Given the description of an element on the screen output the (x, y) to click on. 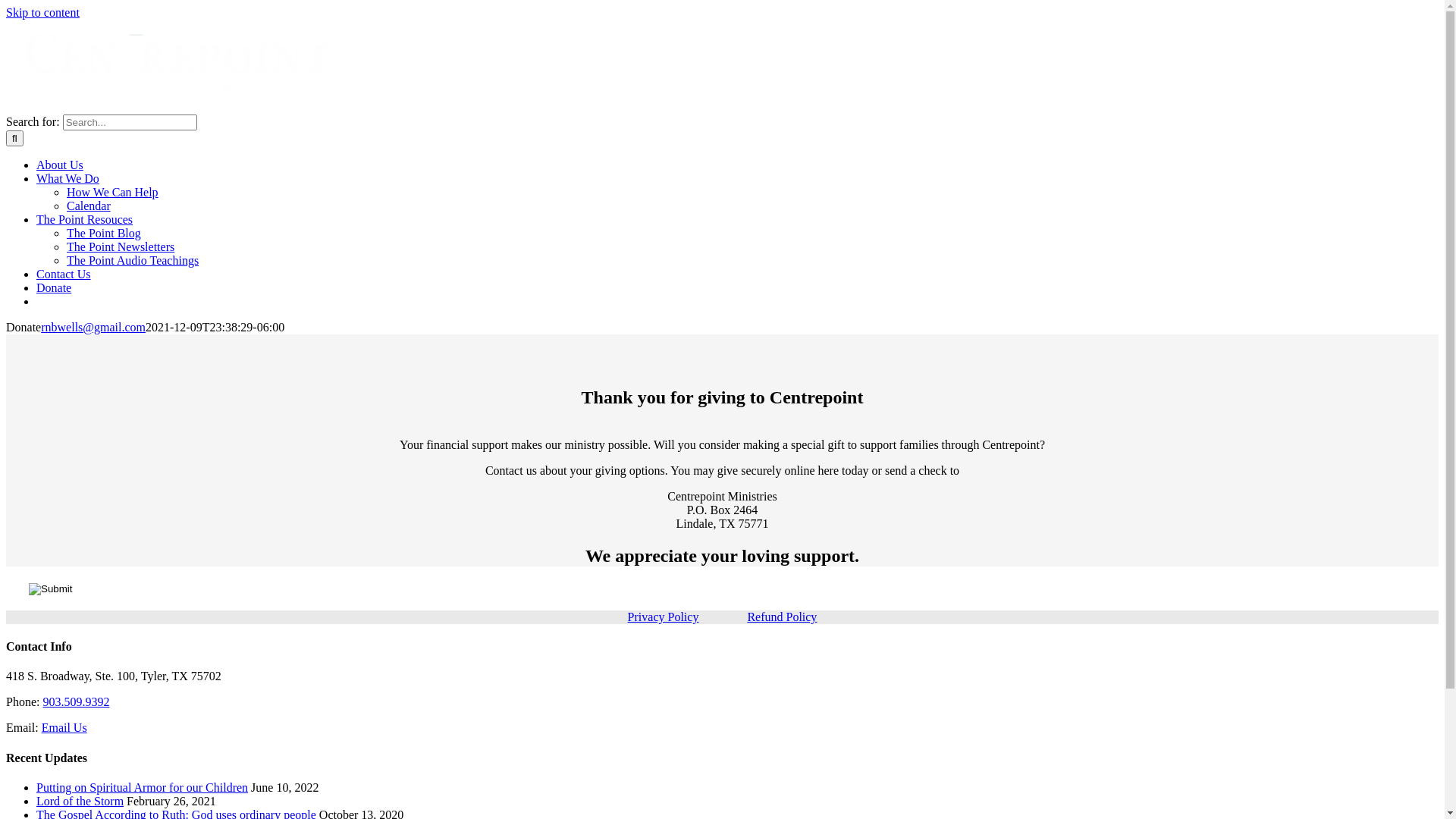
Privacy Policy Element type: text (663, 616)
903.509.9392 Element type: text (75, 701)
Skip to content Element type: text (42, 12)
Putting on Spiritual Armor for our Children Element type: text (141, 787)
Lord of the Storm Element type: text (79, 800)
The Point Audio Teachings Element type: text (132, 260)
The Point Newsletters Element type: text (120, 246)
Contact Us Element type: text (63, 273)
About Us Element type: text (59, 164)
The Point Blog Element type: text (103, 232)
Email Us Element type: text (64, 727)
How We Can Help Element type: text (112, 191)
What We Do Element type: text (67, 178)
Refund Policy Element type: text (781, 616)
Donate Element type: text (53, 287)
rnbwells@gmail.com Element type: text (92, 326)
Calendar Element type: text (88, 205)
The Point Resouces Element type: text (84, 219)
